Given the description of an element on the screen output the (x, y) to click on. 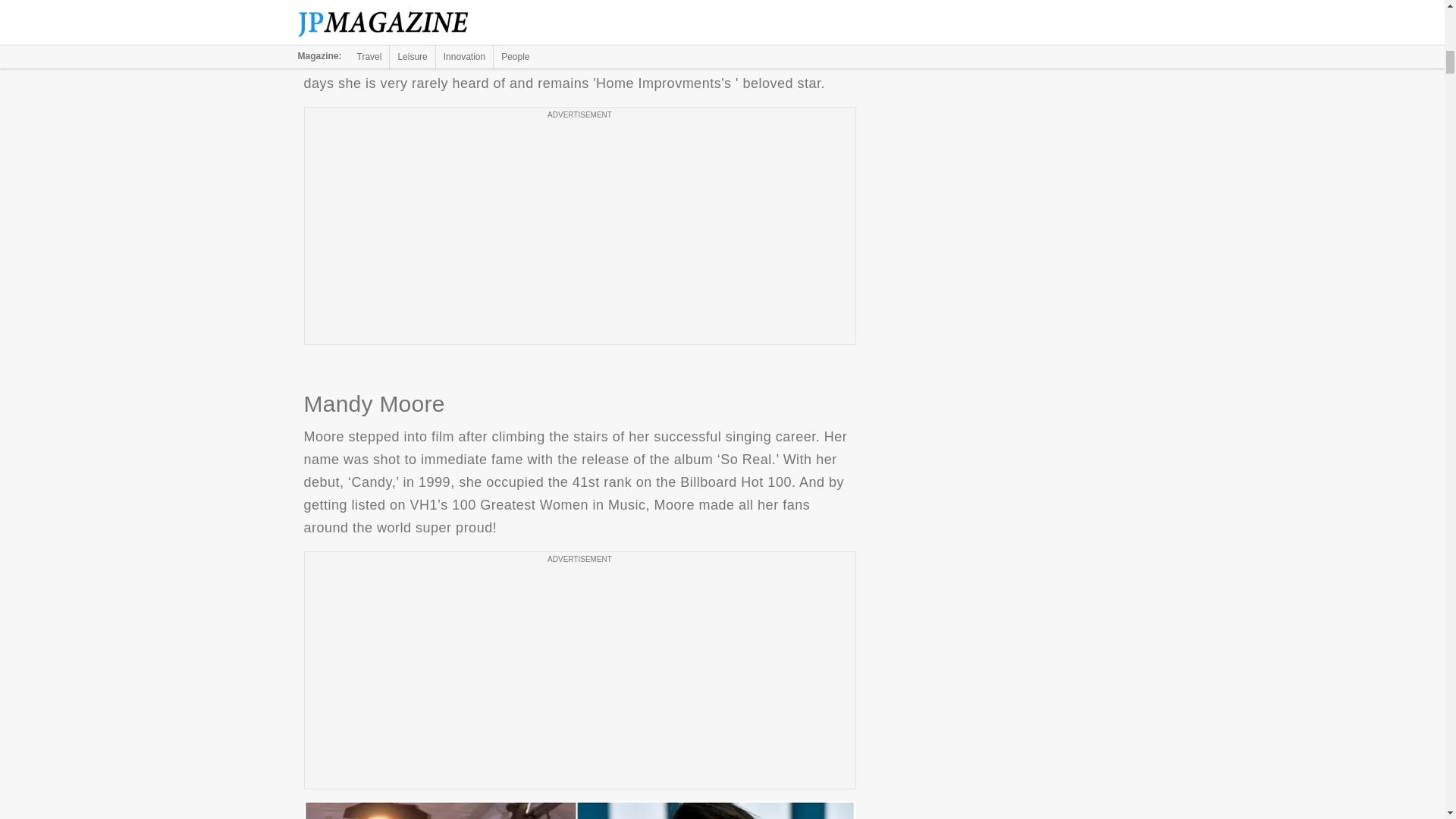
Mandy Moore (579, 809)
